Given the description of an element on the screen output the (x, y) to click on. 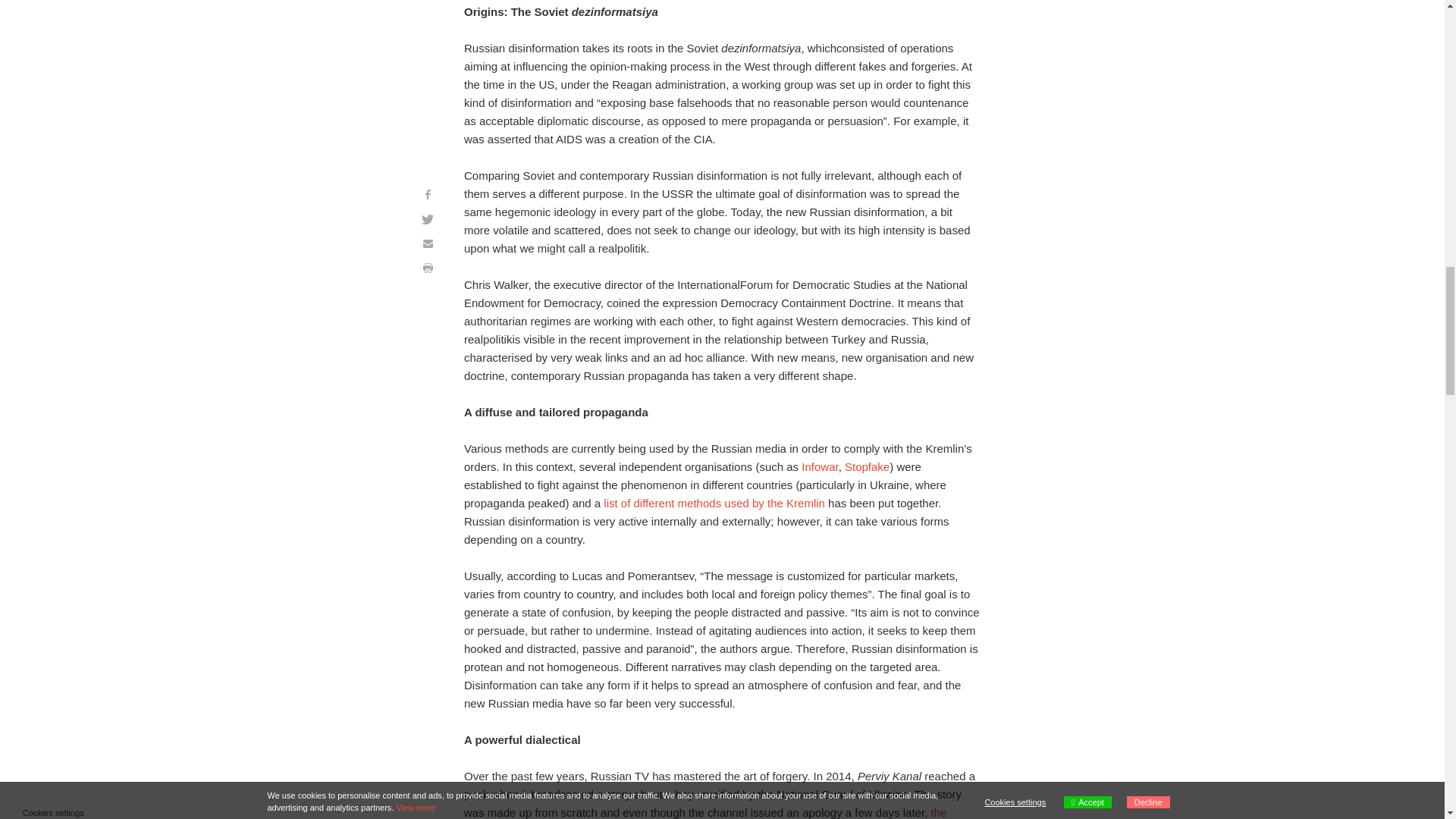
the information had already spread (705, 812)
Stopfake (866, 466)
list of different methods used by the Kremlin (714, 502)
Infowar (820, 466)
